Given the description of an element on the screen output the (x, y) to click on. 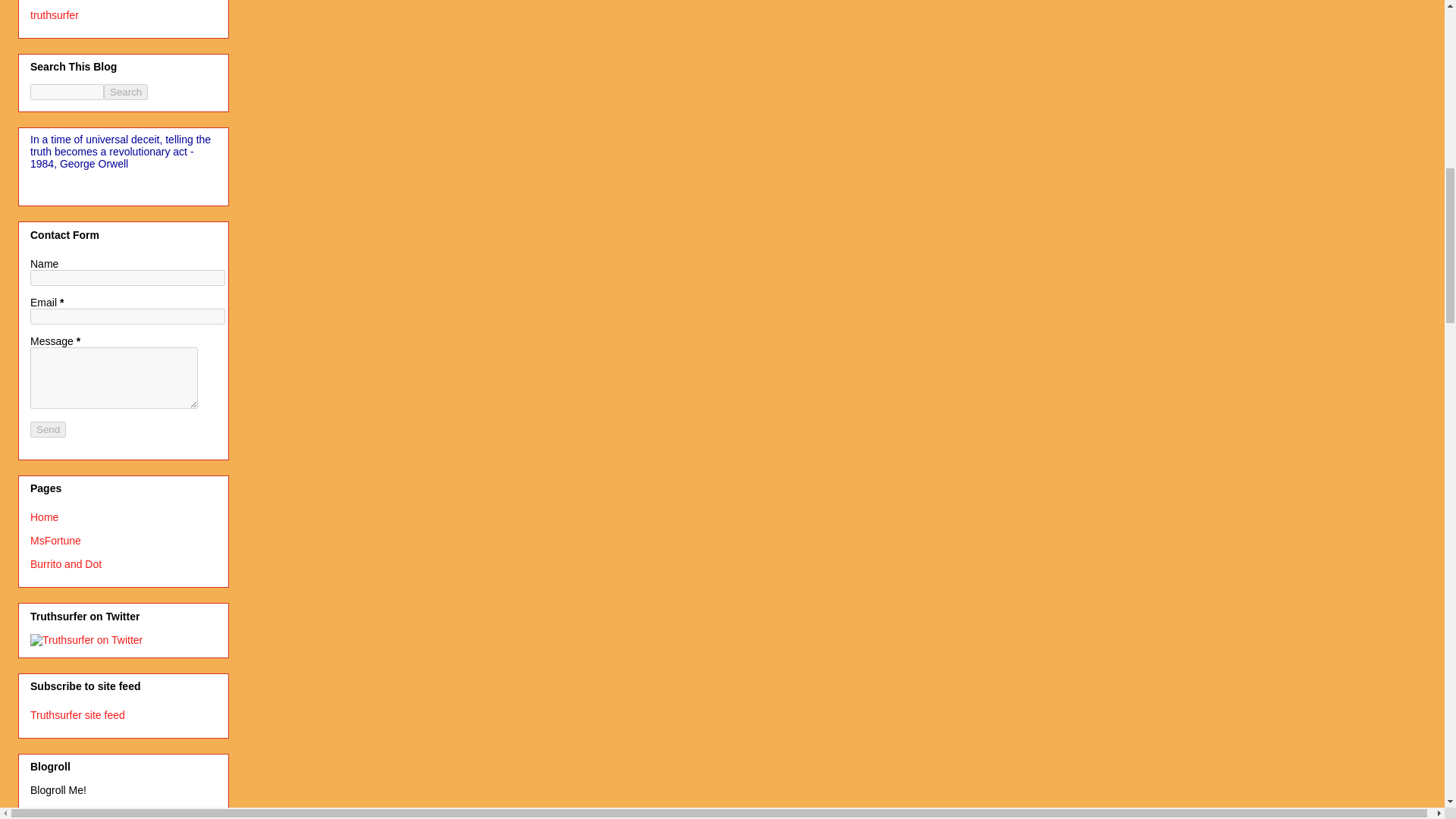
Burrito and Dot (65, 563)
truthsurfer (54, 15)
Home (44, 517)
search (125, 91)
Blogroll Me! (57, 789)
Search (125, 91)
Send (47, 429)
MsFortune (55, 540)
Search (125, 91)
search (66, 91)
Search (125, 91)
Truthsurfer site feed (77, 715)
